Given the description of an element on the screen output the (x, y) to click on. 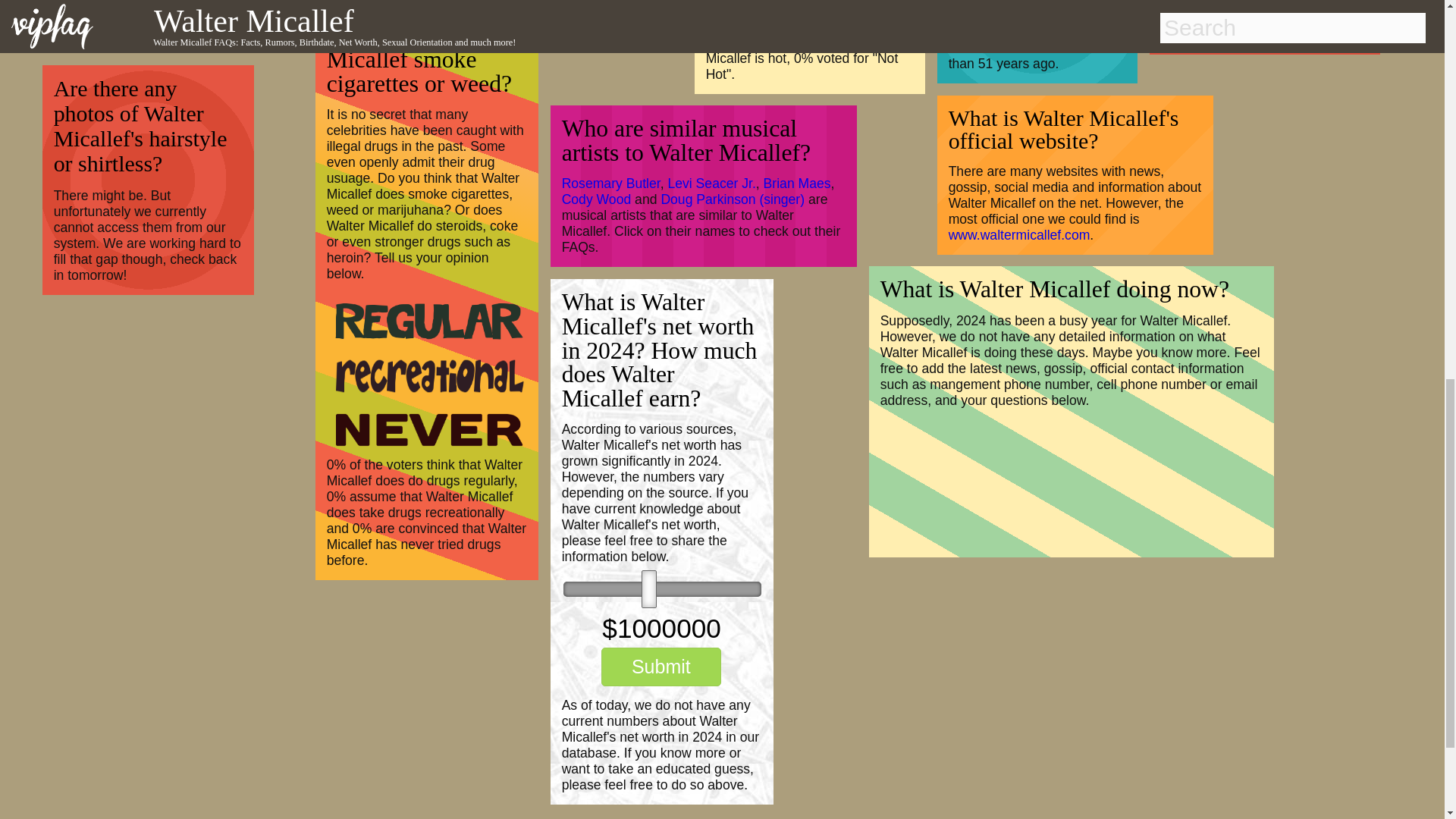
www.waltermicallef.com (1019, 234)
Submit (660, 666)
6 (662, 589)
Rosemary Butler (611, 183)
Levi Seacer Jr. (710, 183)
Cody Wood (596, 199)
Brian Maes (796, 183)
